Given the description of an element on the screen output the (x, y) to click on. 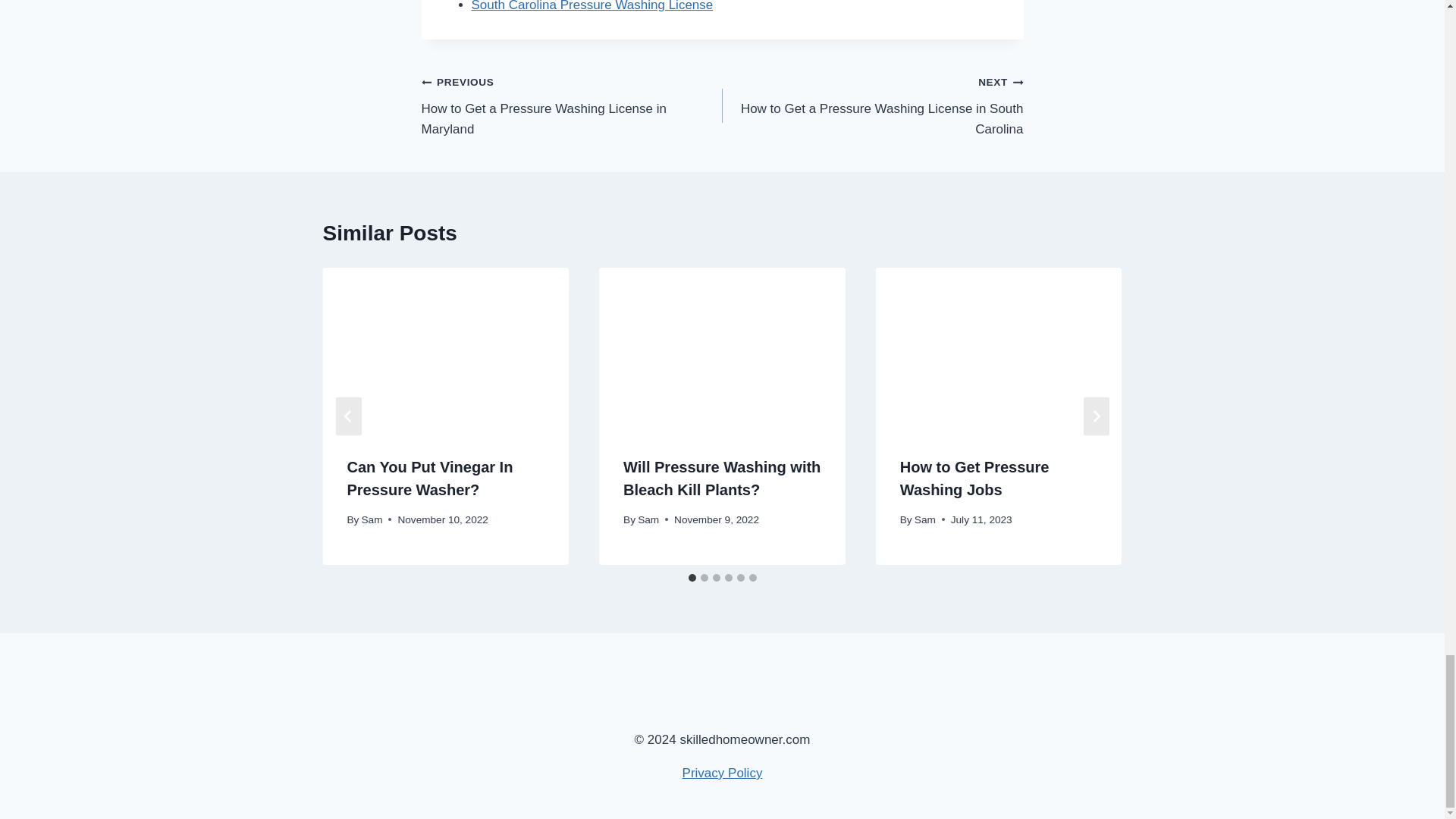
South Carolina Pressure Washing License (592, 6)
